Given the description of an element on the screen output the (x, y) to click on. 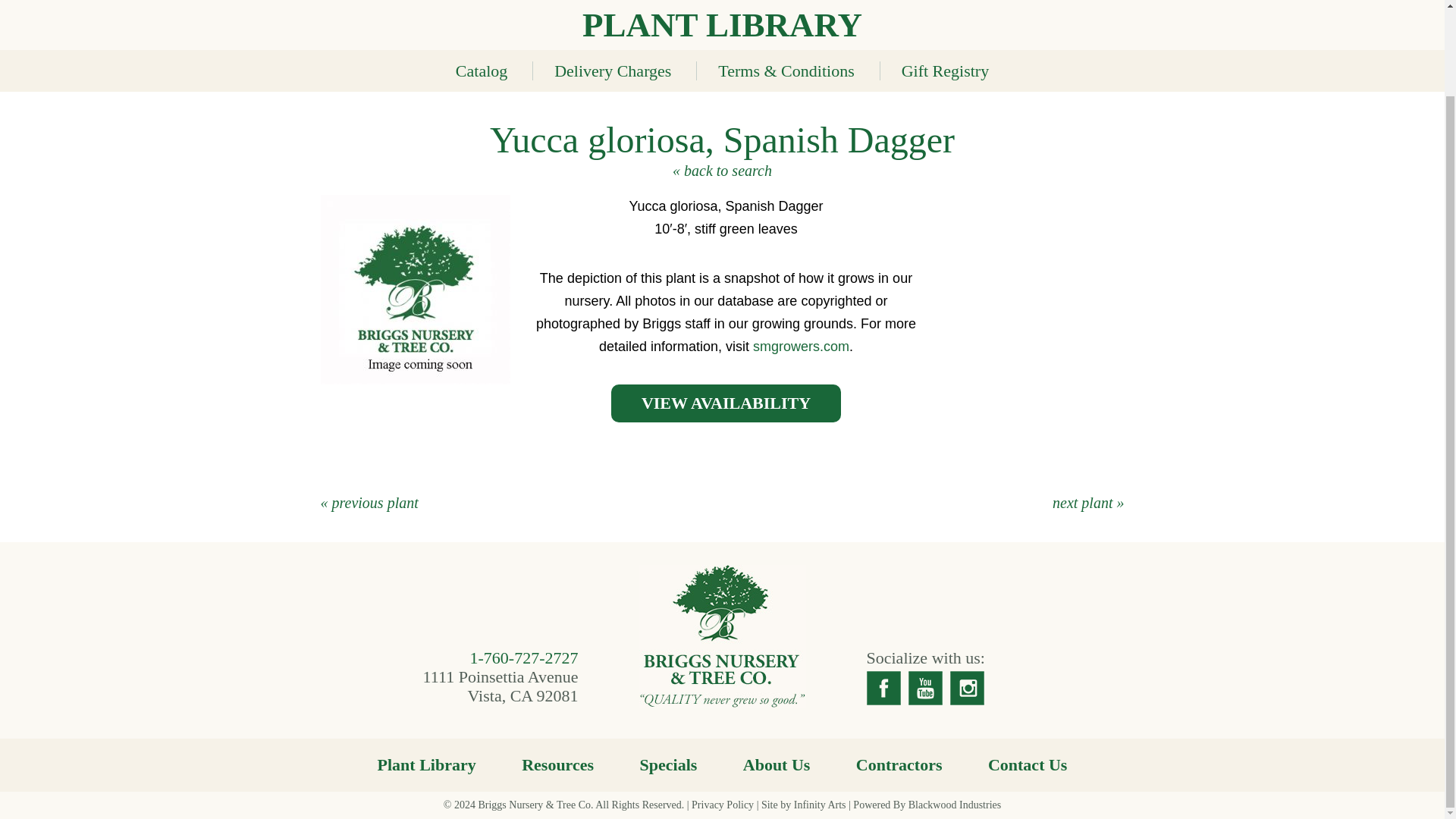
Catalog (480, 70)
Delivery Charges (612, 70)
Gift Registry (945, 70)
smgrowers.com (800, 346)
1-760-727-2727 (524, 657)
VIEW AVAILABILITY (726, 403)
PLANT LIBRARY (721, 24)
